Given the description of an element on the screen output the (x, y) to click on. 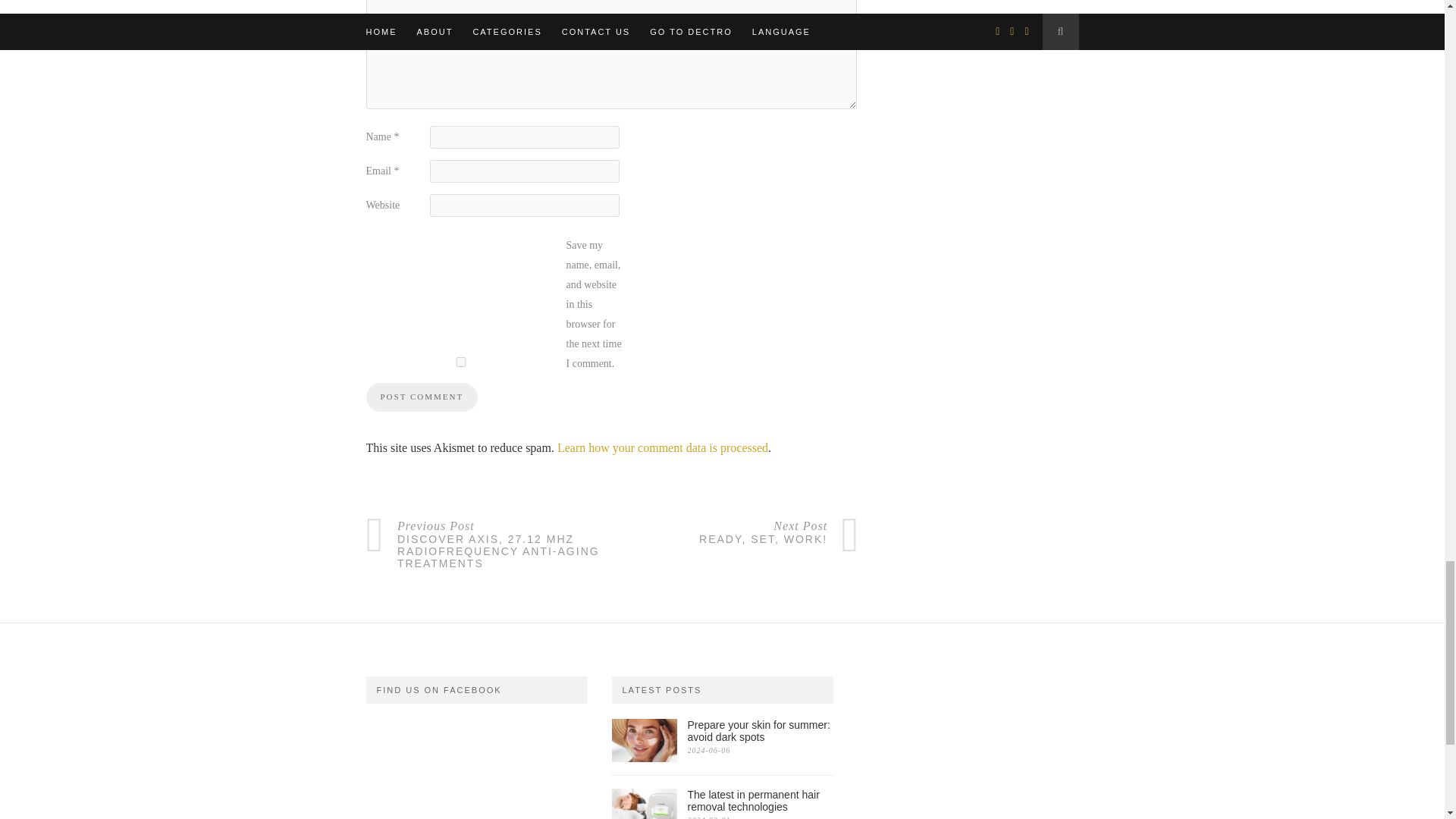
yes (459, 361)
Post Comment (421, 396)
